Given the description of an element on the screen output the (x, y) to click on. 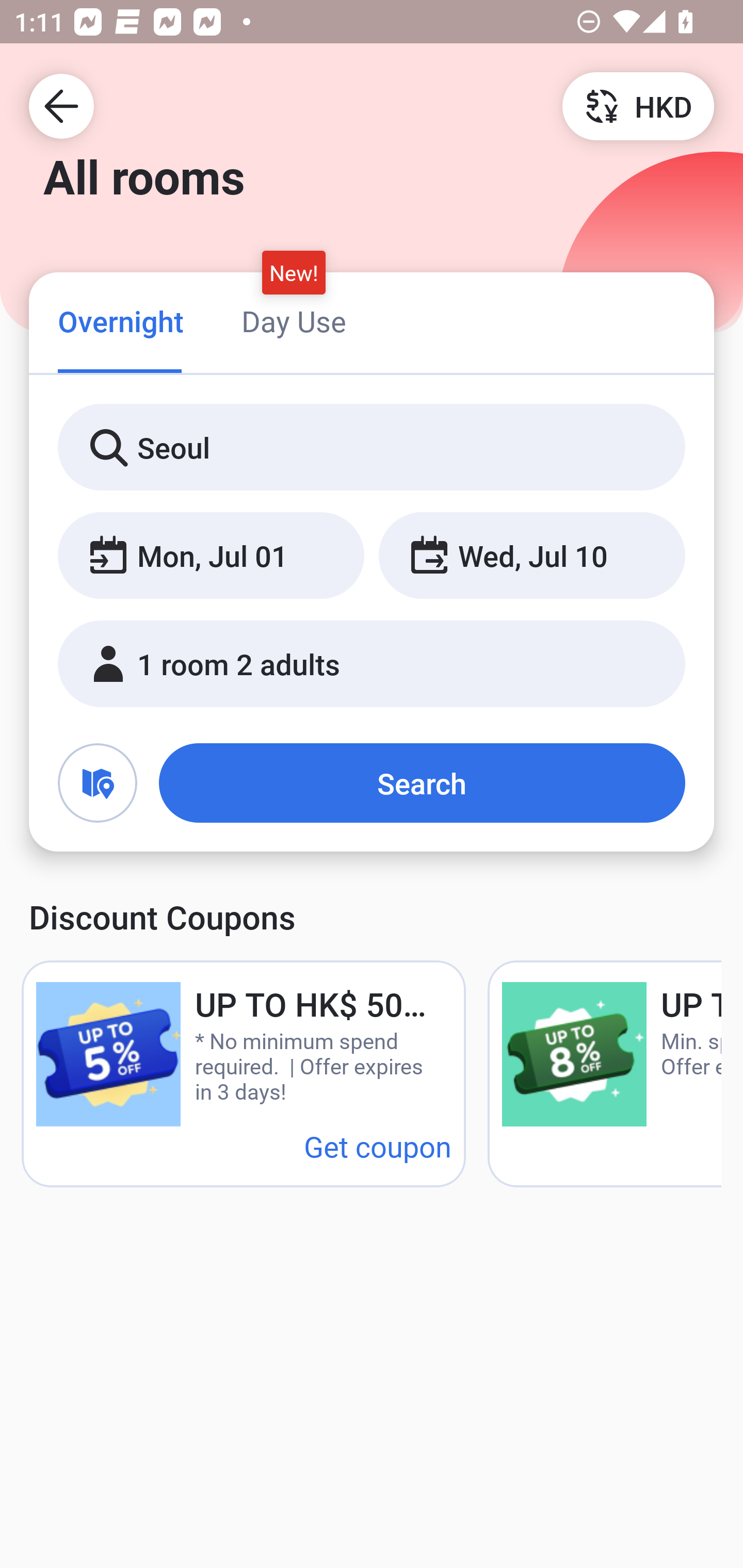
HKD (638, 105)
New! (294, 272)
Day Use (293, 321)
Seoul (371, 447)
Mon, Jul 01 (210, 555)
Wed, Jul 10 (531, 555)
1 room 2 adults (371, 663)
Search (422, 783)
Get coupon (377, 1146)
